Given the description of an element on the screen output the (x, y) to click on. 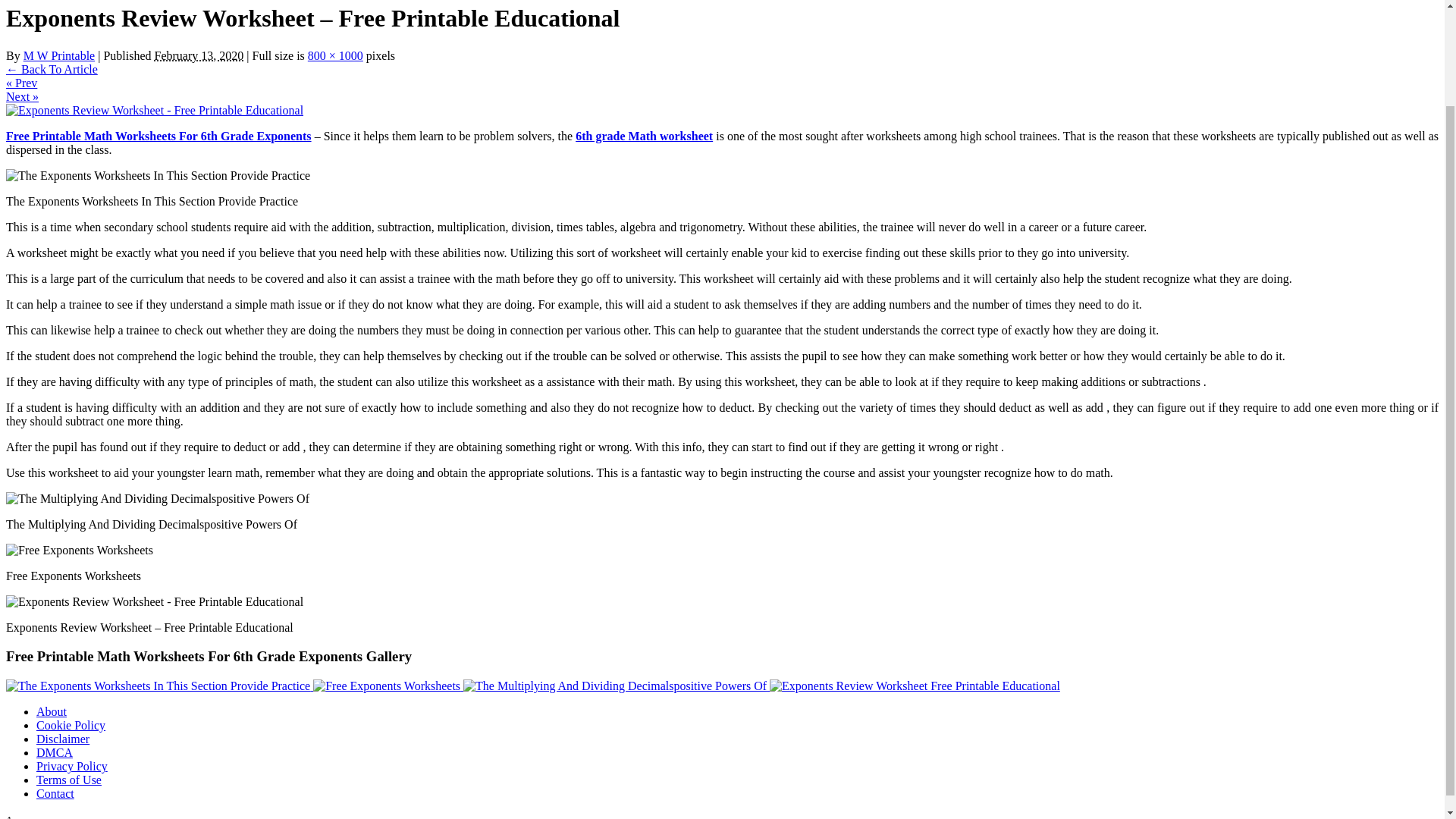
Link to full-size image (334, 55)
4:19 pm (199, 55)
About (51, 711)
the multiplying and dividing decimalspositive powers of (156, 499)
View all posts by M W Printable (59, 55)
DMCA (54, 752)
Terms of Use (68, 779)
The Exponents Worksheets In This Section Provide Practice (159, 685)
The Exponents Worksheets In This Section Provide Practice (157, 685)
M W Printable (59, 55)
Free Printable Math Worksheets For 6th Grade Exponents (158, 135)
exponents review worksheet free printable educational (153, 602)
Free Exponents Worksheets (388, 685)
6th grade Math worksheet (644, 135)
